Given the description of an element on the screen output the (x, y) to click on. 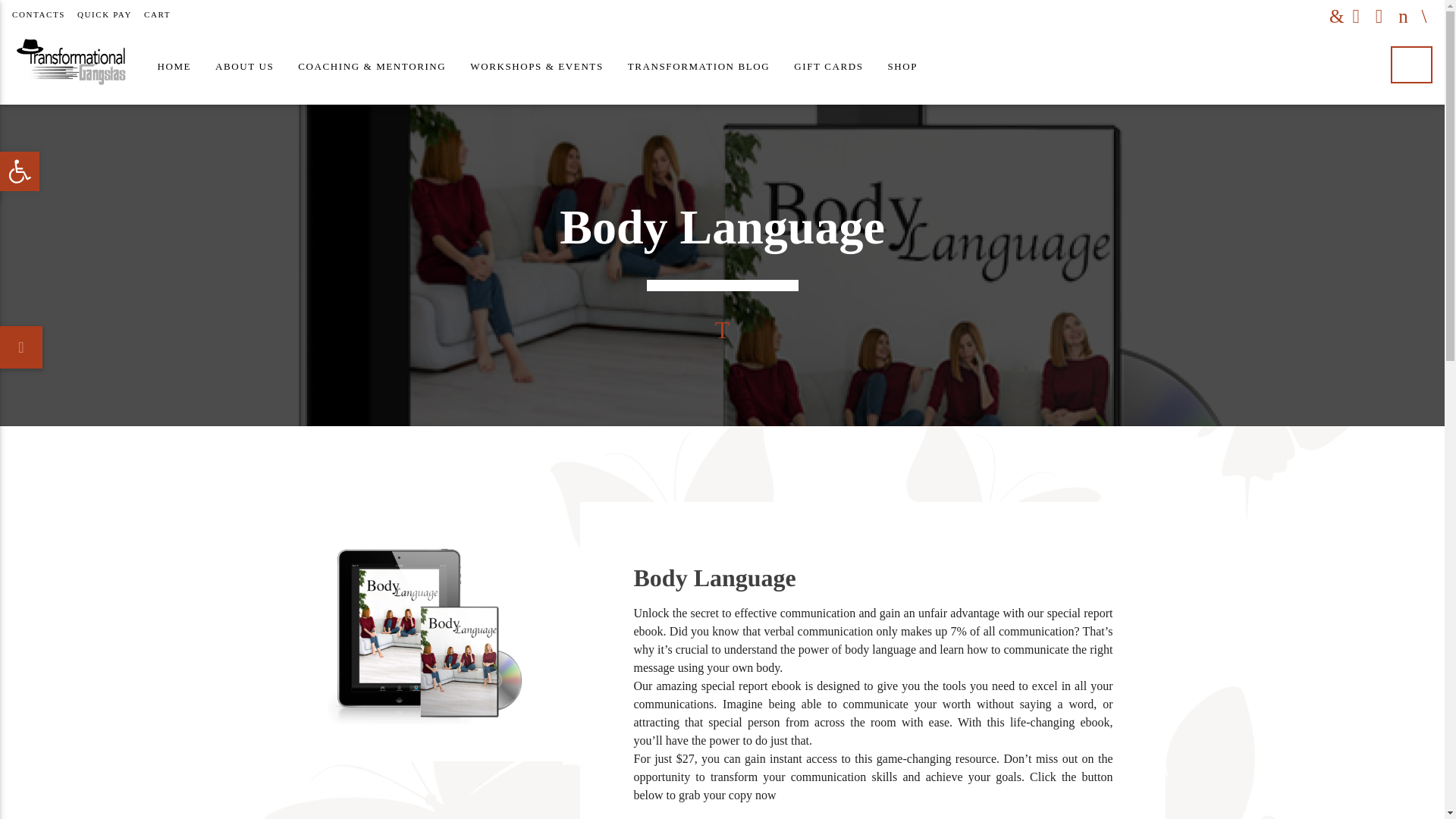
CONTACTS (38, 14)
Accessibility Tools (19, 170)
ABOUT US (244, 66)
CART (19, 170)
GIFT CARDS (157, 14)
bodylanguagetg (828, 66)
TRANSFORMATION BLOG (420, 631)
Accessibility Tools (699, 66)
QUICK PAY (19, 170)
